Given the description of an element on the screen output the (x, y) to click on. 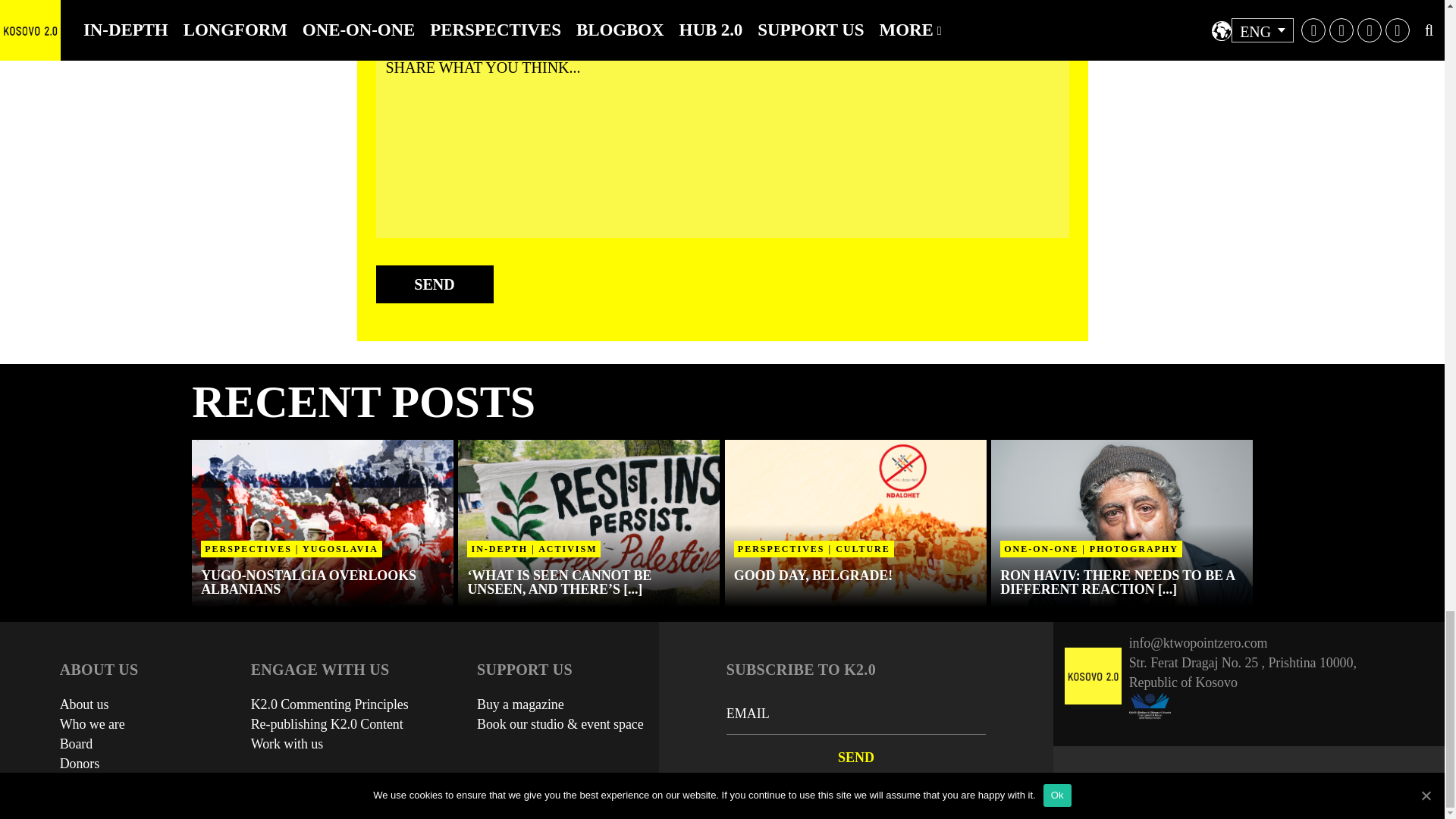
Send (434, 284)
Send (855, 757)
